Given the description of an element on the screen output the (x, y) to click on. 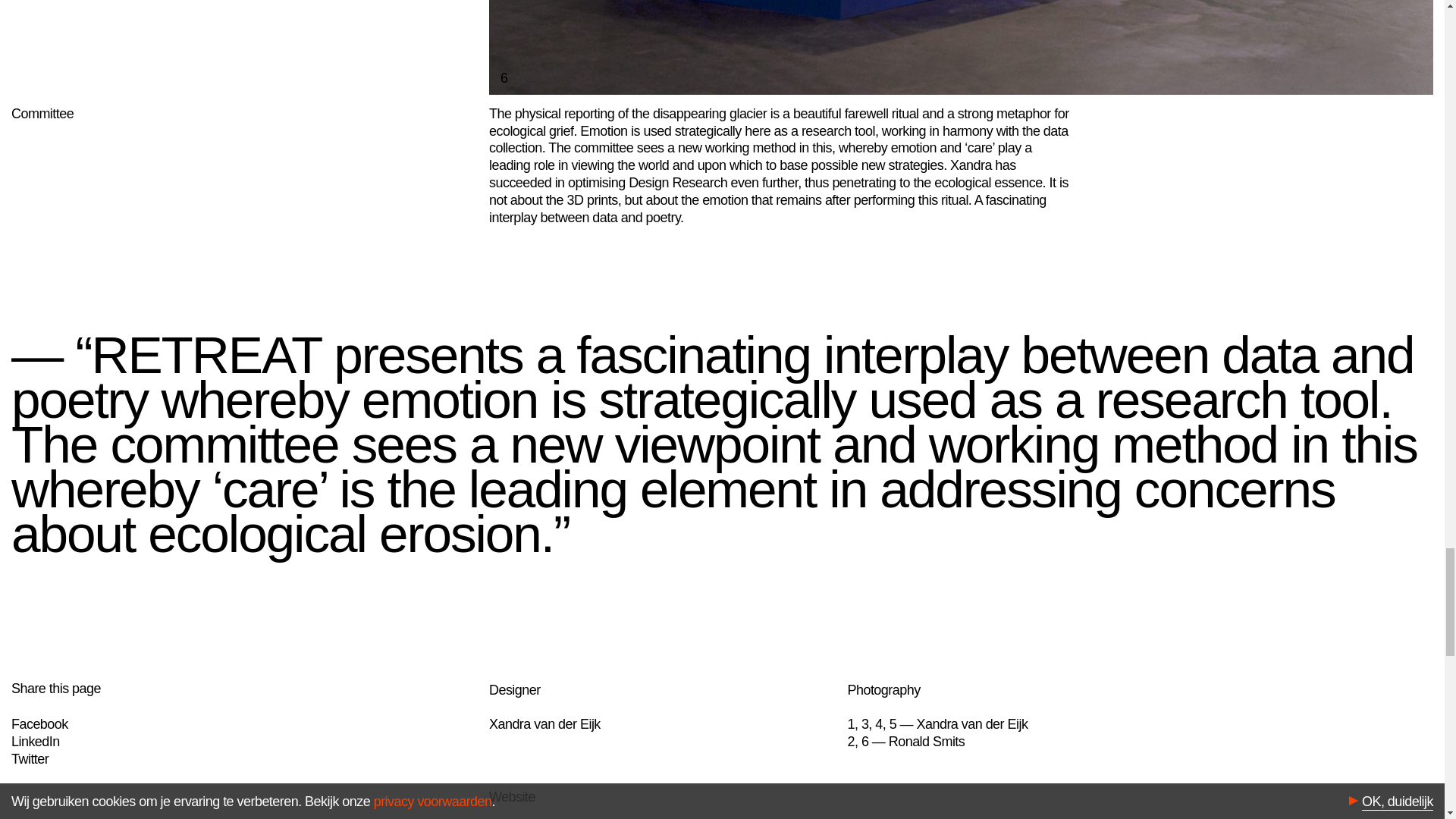
LinkedIn (35, 741)
Facebook (39, 724)
Twitter (29, 758)
